Given the description of an element on the screen output the (x, y) to click on. 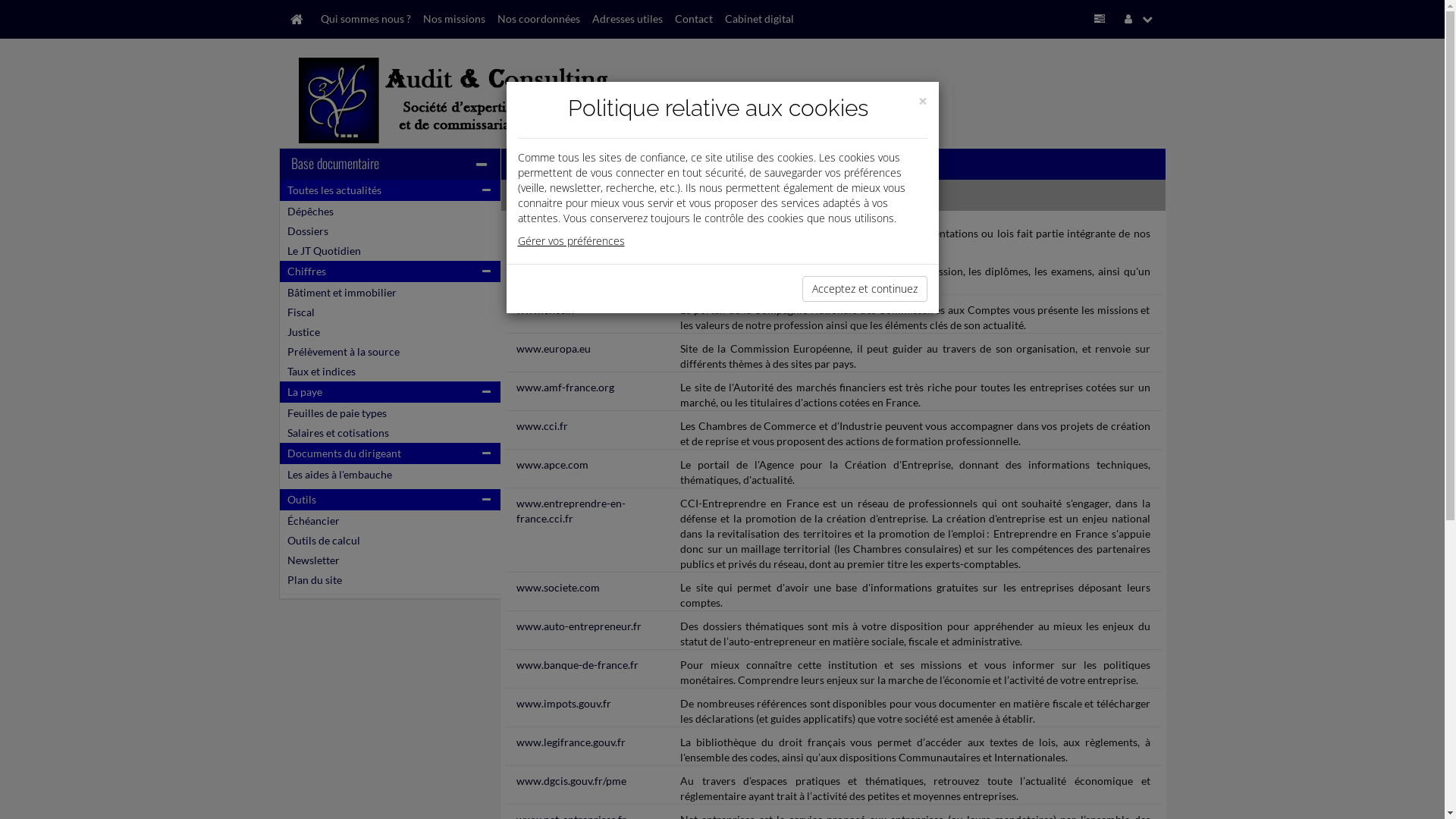
www.auto-entrepreneur.fr Element type: text (578, 625)
Base documentaire Element type: hover (1102, 18)
Mon compte Element type: hover (1141, 18)
www.legifrance.gouv.fr Element type: text (570, 741)
www.experts-comptables.com Element type: text (554, 278)
Outils Element type: text (300, 498)
Outils de calcul Element type: text (322, 539)
www.apce.com Element type: text (552, 464)
Justice Element type: text (302, 331)
Plan du site Element type: text (313, 579)
www.societe.com Element type: text (557, 586)
www.entreprendre-en-france.cci.fr Element type: text (570, 510)
Fiscal Element type: text (299, 311)
Nos missions Element type: text (454, 18)
www.amf-france.org Element type: text (565, 386)
Acceptez et continuez Element type: text (864, 288)
www.europa.eu Element type: text (553, 348)
Accueil Element type: hover (296, 18)
Adresses utiles Element type: text (626, 18)
Taux et indices Element type: text (320, 370)
www.impots.gouv.fr Element type: text (563, 702)
Contact Element type: text (693, 18)
Base documentaire Element type: text (335, 162)
Dossiers Element type: text (306, 230)
www.banque-de-france.fr Element type: text (577, 664)
Documents du dirigeant Element type: text (343, 452)
La paye Element type: text (303, 391)
Newsletter Element type: text (312, 559)
www.dgcis.gouv.fr/pme Element type: text (571, 780)
www.cncc.fr Element type: text (546, 309)
Qui sommes nous ? Element type: text (364, 18)
www.cci.fr Element type: text (541, 425)
Salaires et cotisations Element type: text (337, 432)
Adresses utiles Element type: text (547, 193)
Le JT Quotidien Element type: text (323, 250)
Chiffres Element type: text (305, 270)
Cabinet digital Element type: text (759, 18)
Feuilles de paie types Element type: text (335, 412)
